Given the description of an element on the screen output the (x, y) to click on. 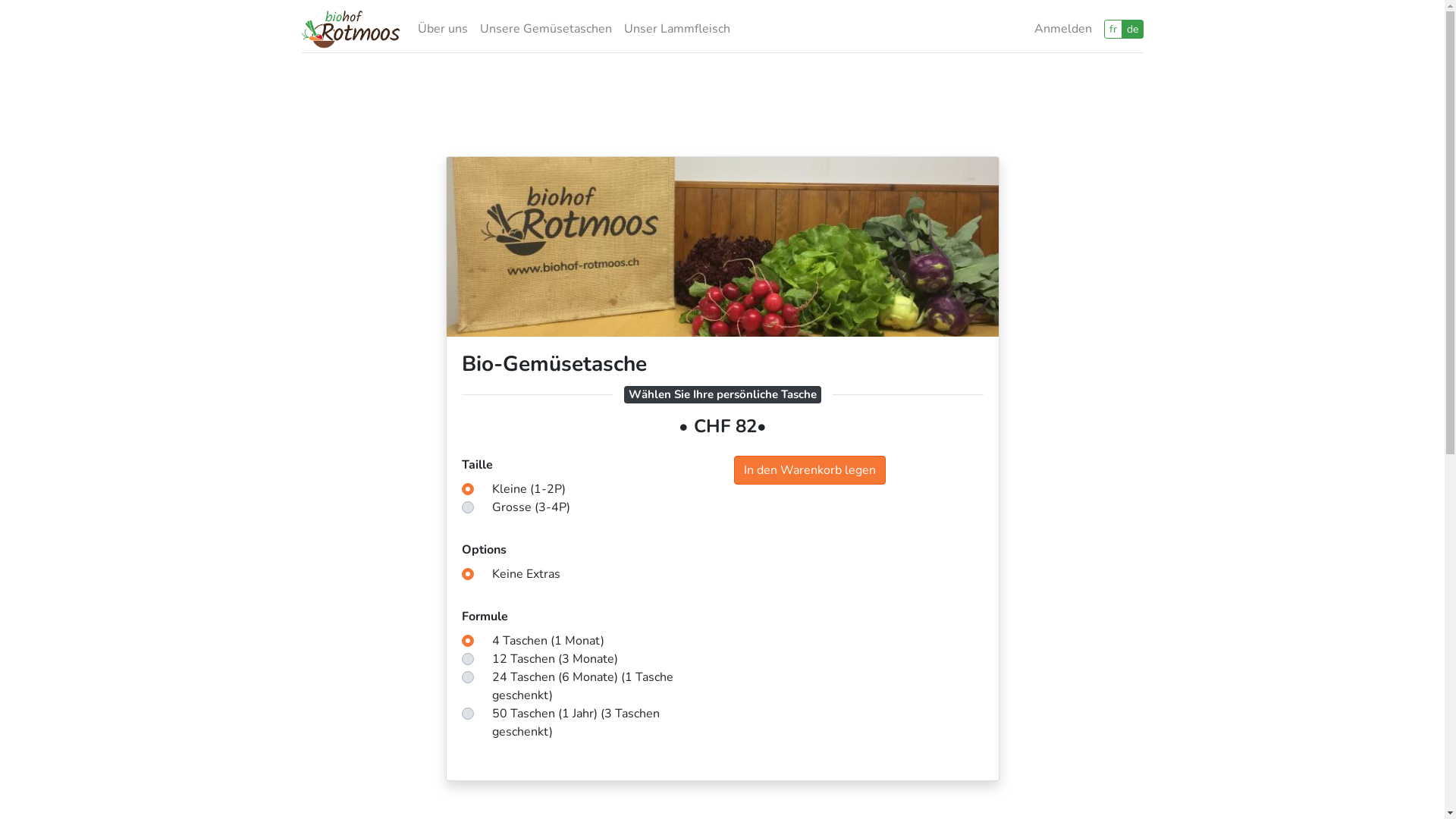
Unser Lammfleisch Element type: text (676, 28)
fr Element type: text (1113, 28)
Anmelden Element type: text (1063, 28)
In den Warenkorb legen Element type: text (809, 469)
de Element type: text (1131, 28)
